Given the description of an element on the screen output the (x, y) to click on. 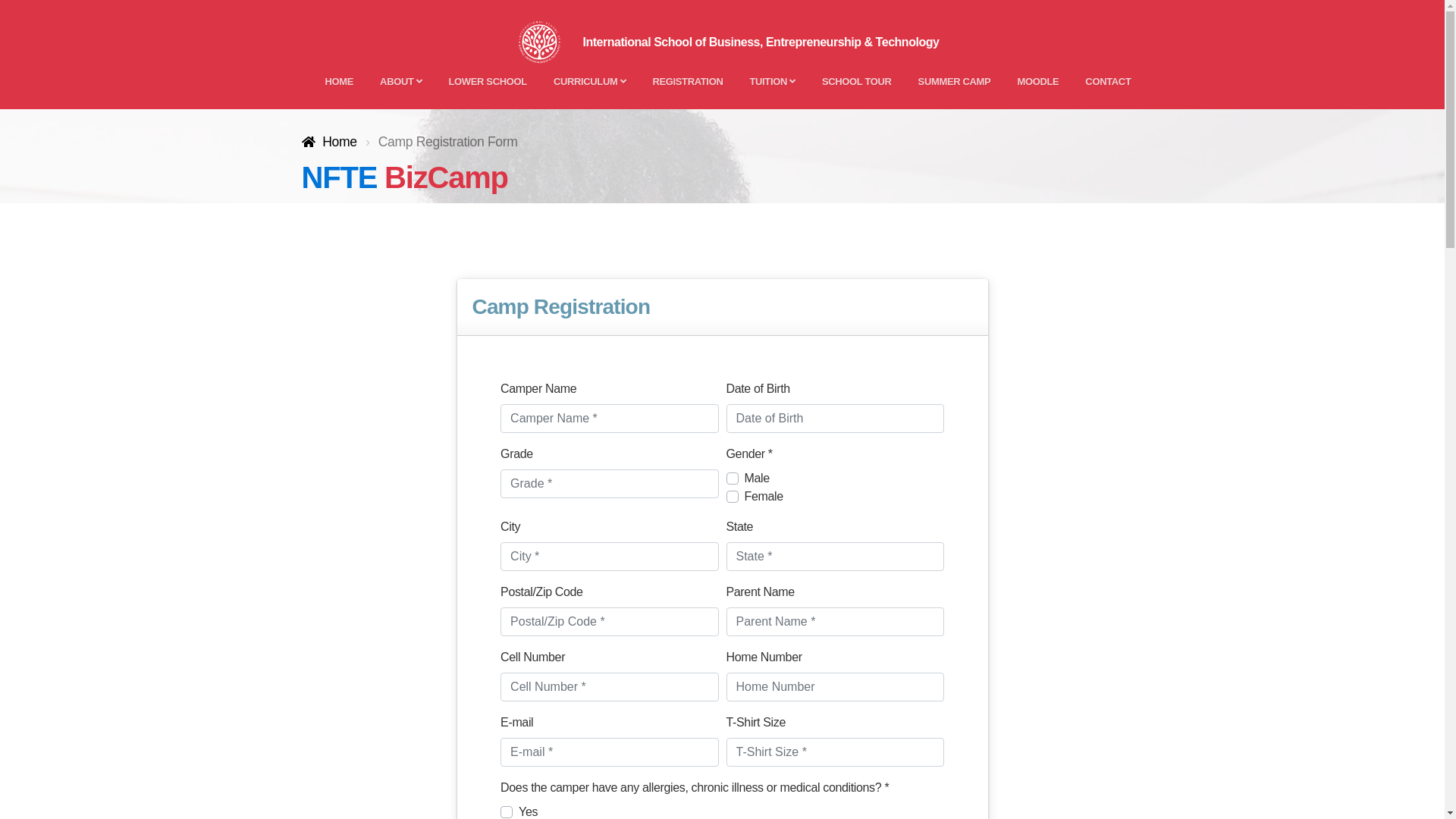
MOODLE Element type: text (1037, 81)
LOWER SCHOOL Element type: text (487, 81)
CURRICULUM Element type: text (589, 81)
REGISTRATION Element type: text (687, 81)
SUMMER CAMP Element type: text (954, 81)
SCHOOL TOUR Element type: text (856, 81)
CONTACT Element type: text (1107, 81)
ABOUT Element type: text (400, 81)
HOME Element type: text (338, 81)
Home Element type: text (329, 141)
TUITION Element type: text (771, 81)
